Given the description of an element on the screen output the (x, y) to click on. 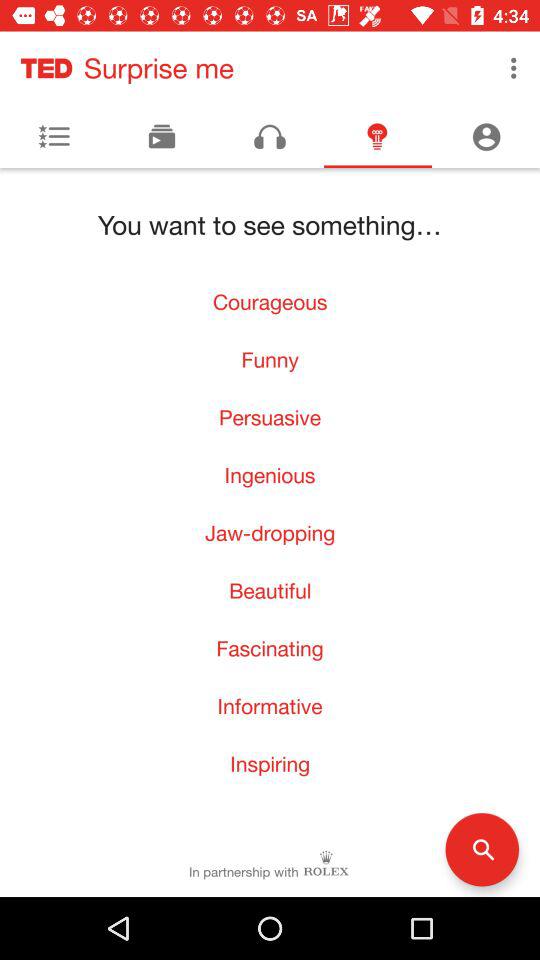
press item above the jaw-dropping item (270, 474)
